Given the description of an element on the screen output the (x, y) to click on. 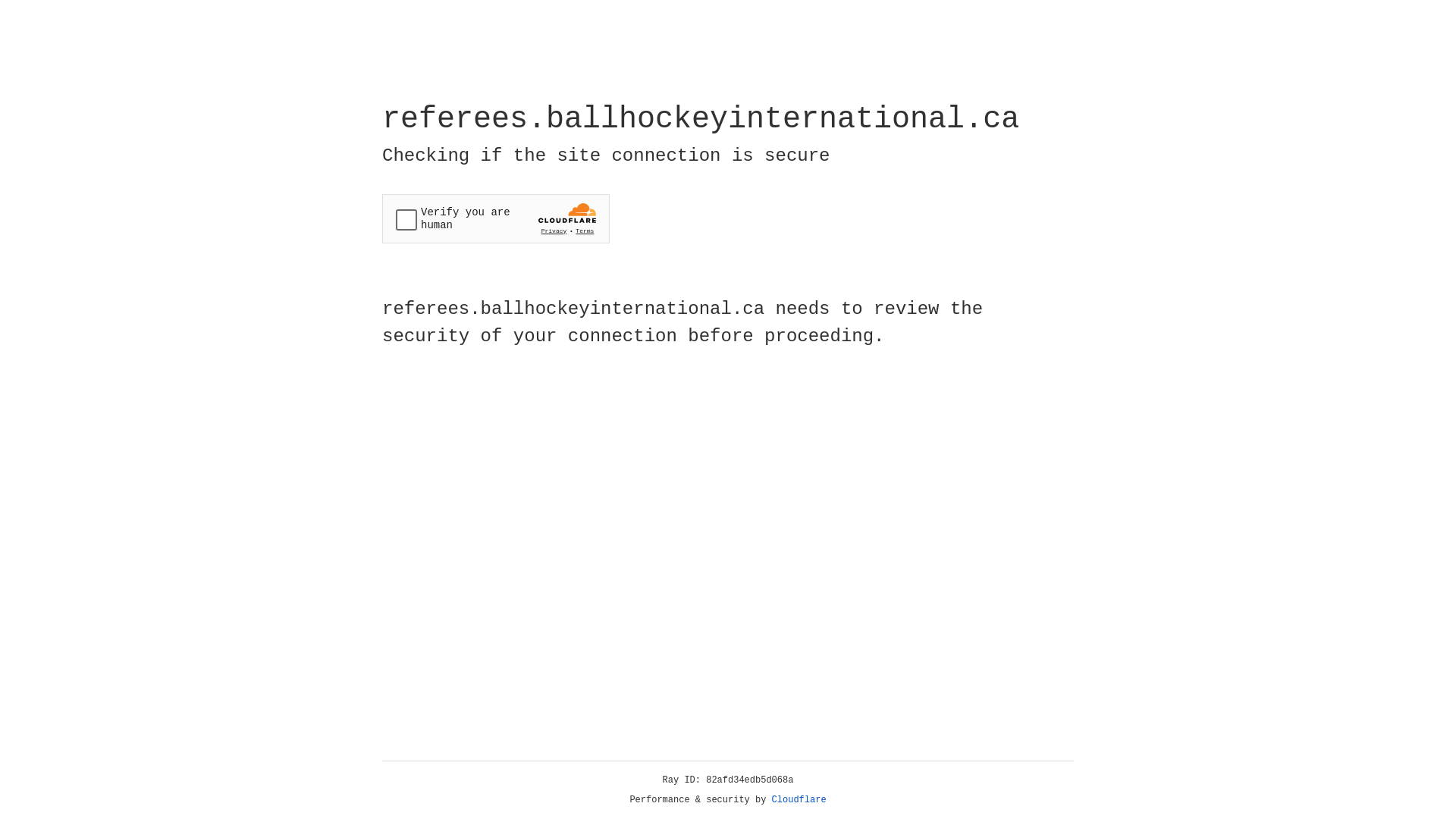
Widget containing a Cloudflare security challenge Element type: hover (495, 218)
Cloudflare Element type: text (798, 799)
